Given the description of an element on the screen output the (x, y) to click on. 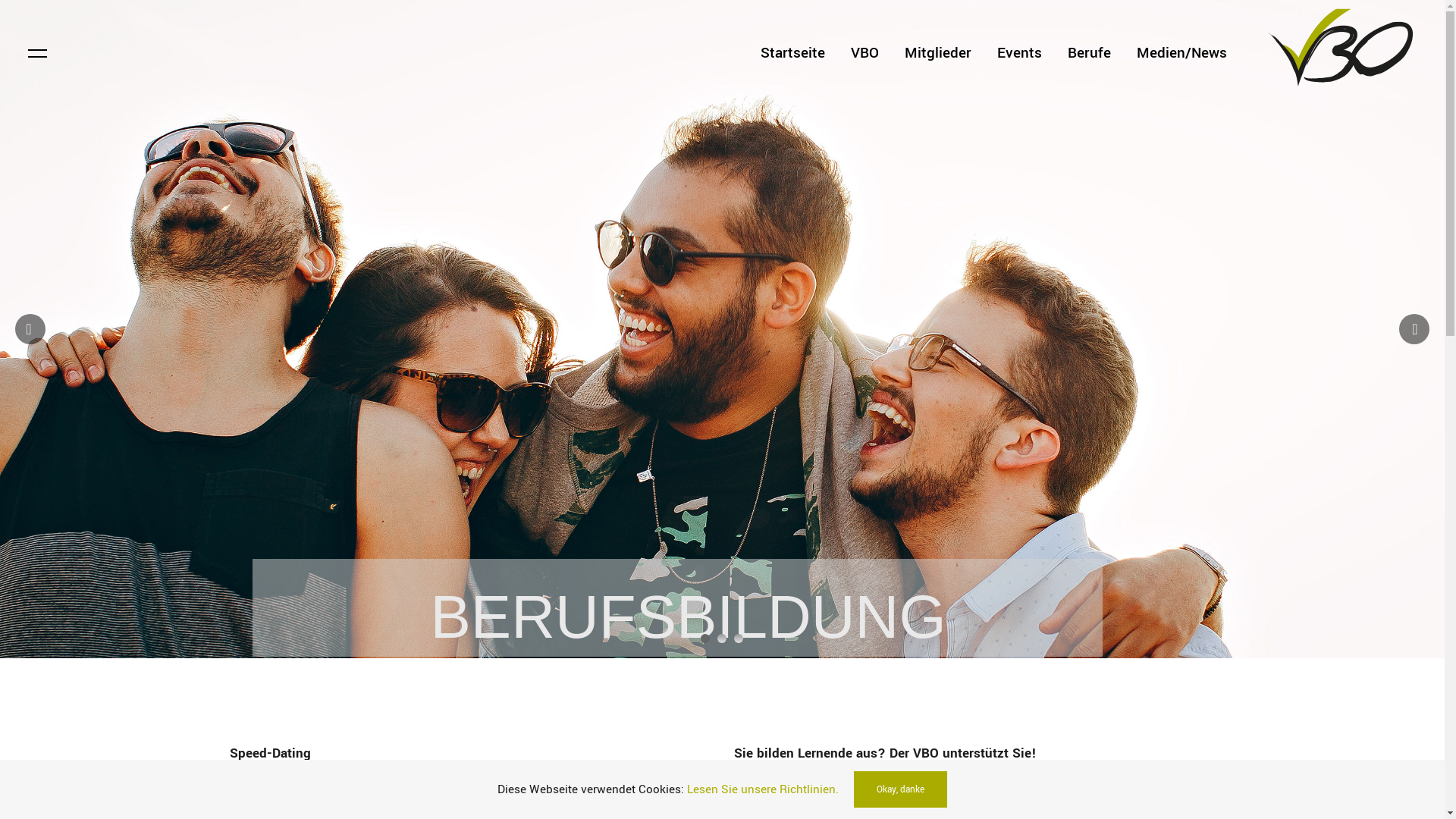
Medien/News Element type: text (1181, 53)
info@berufsbildung-oberaargau.ch Element type: text (717, 565)
Impressum Element type: text (634, 770)
Berufe Element type: text (1088, 53)
VBO Element type: text (864, 53)
Mehr Infos. Element type: text (349, 806)
 REFIVE Element type: text (1185, 770)
Events Element type: text (1019, 53)
Tel. +41 62 923 60 30 Element type: text (717, 544)
sehruum11 Element type: text (1011, 770)
Lesen Sie unsere Richtlinien. Element type: text (762, 789)
Mitglieder Element type: text (937, 53)
Startseite Element type: text (792, 53)
Okay, danke Element type: text (900, 789)
